Given the description of an element on the screen output the (x, y) to click on. 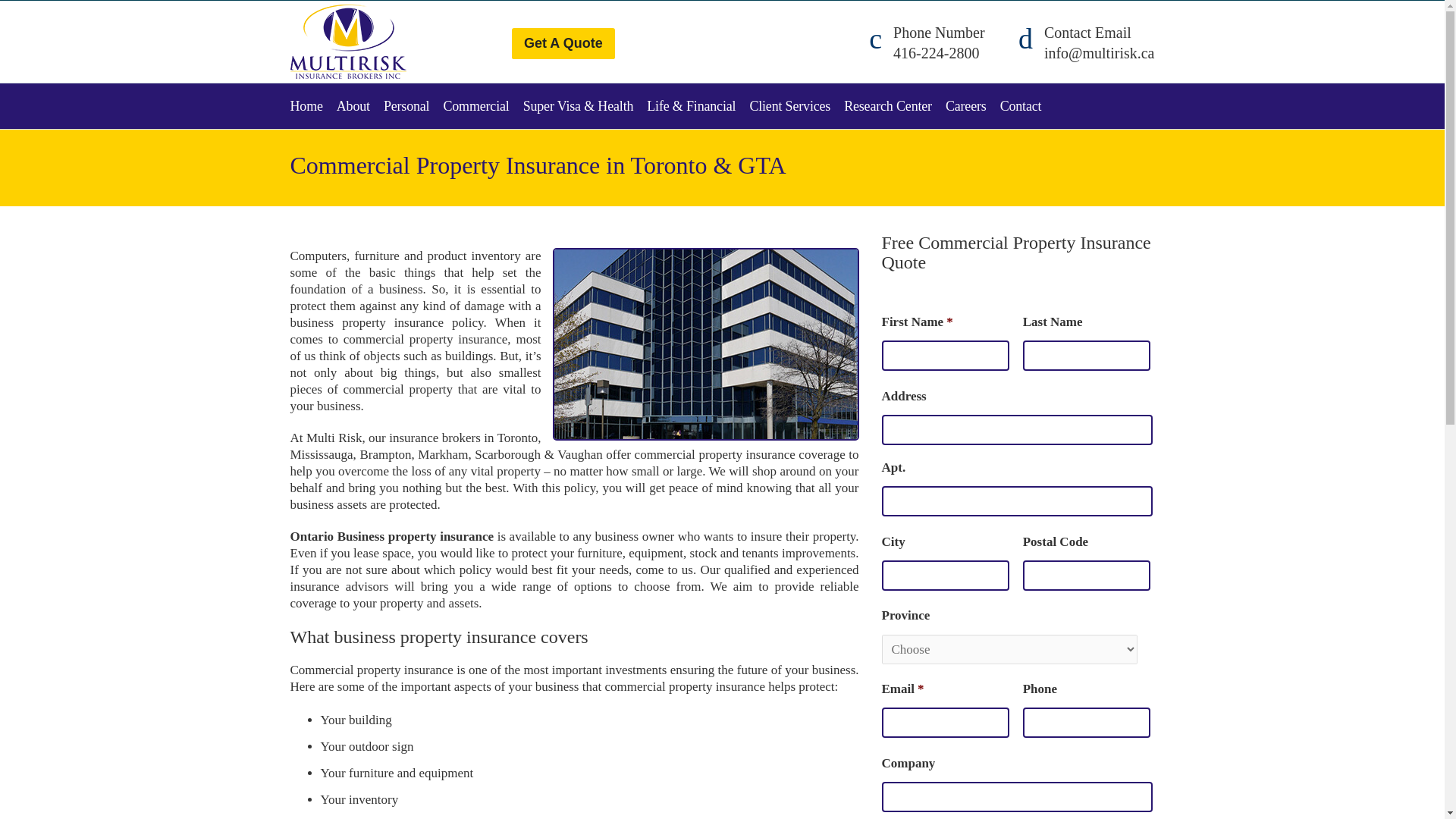
Get A Quote (563, 42)
Personal (414, 105)
Home (312, 105)
Commercial (482, 105)
Commercial-Property-Insurance (705, 344)
About (360, 105)
